Given the description of an element on the screen output the (x, y) to click on. 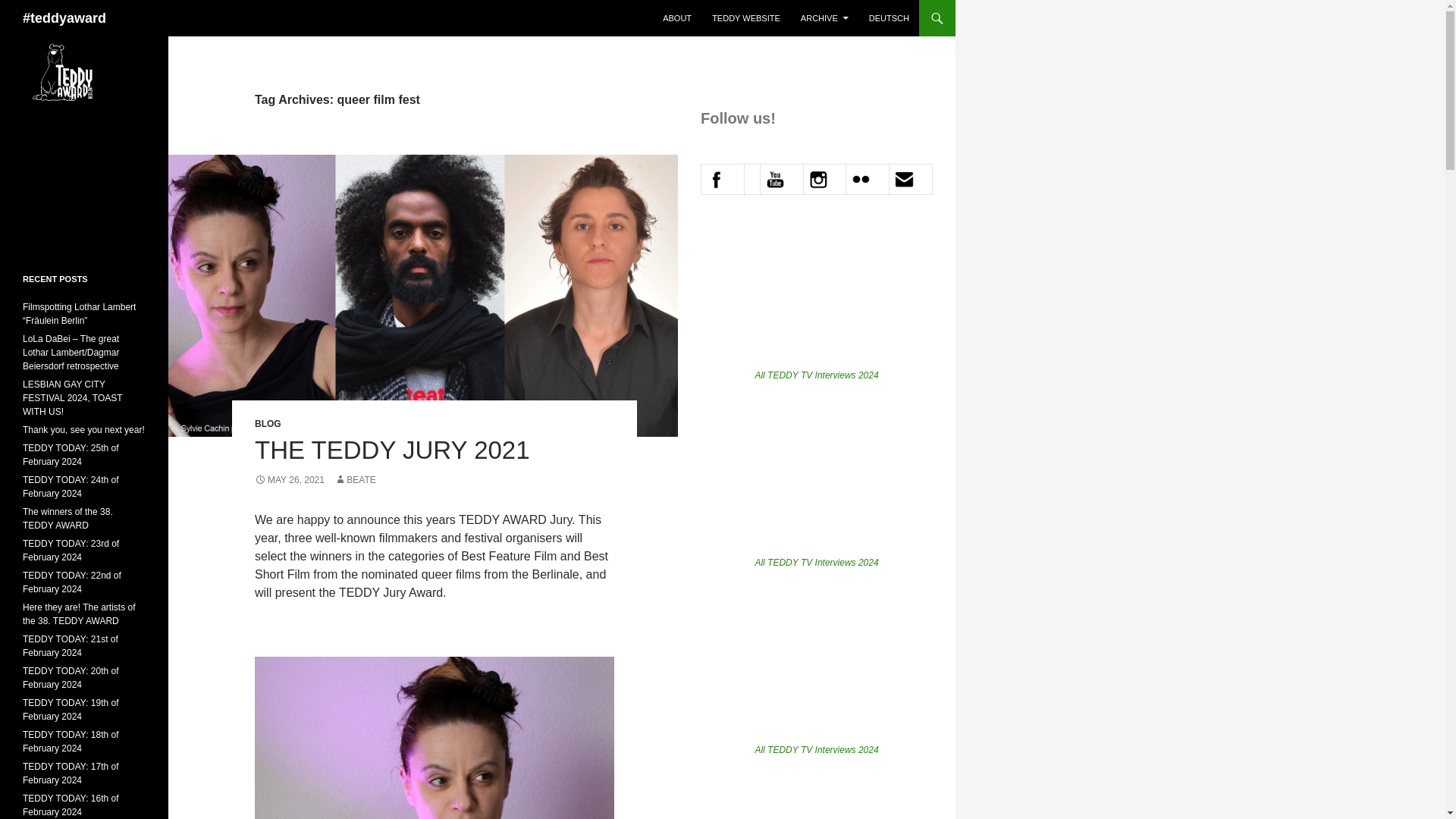
ARCHIVE (824, 18)
THE TEDDY JURY 2021 (391, 449)
BLOG (267, 423)
BEATE (354, 480)
MAY 26, 2021 (289, 480)
ABOUT (676, 18)
TEDDY WEBSITE (746, 18)
DEUTSCH (889, 18)
Interview with Ray Yeung, director of "ALL SHALL BE WELL" (816, 295)
